Given the description of an element on the screen output the (x, y) to click on. 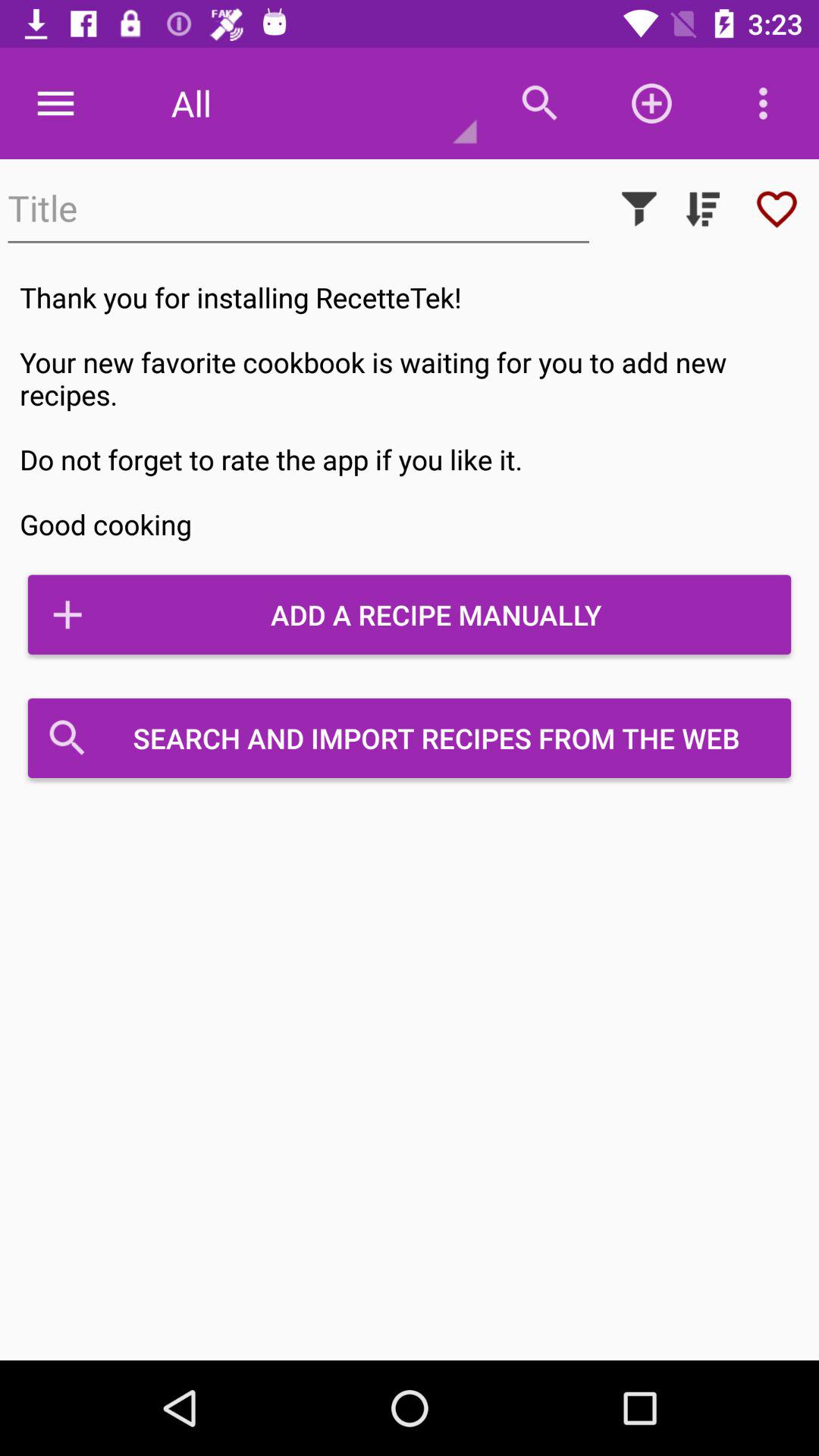
turn off the item to the left of the all item (55, 103)
